Given the description of an element on the screen output the (x, y) to click on. 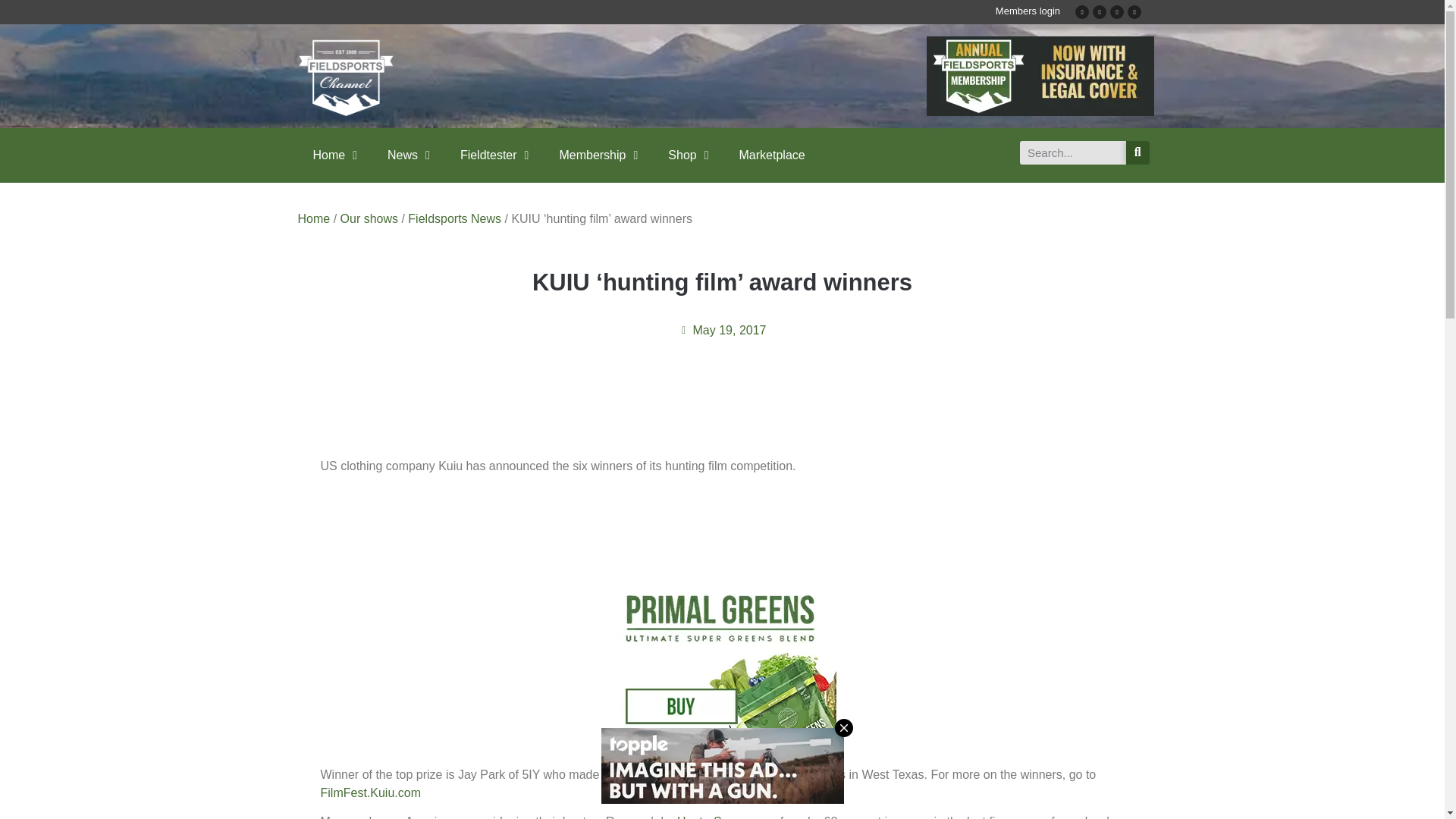
Shop (687, 155)
Fieldtester (494, 155)
News (408, 155)
Membership (597, 155)
Members login (1027, 10)
Home (334, 155)
Marketplace (772, 155)
